Given the description of an element on the screen output the (x, y) to click on. 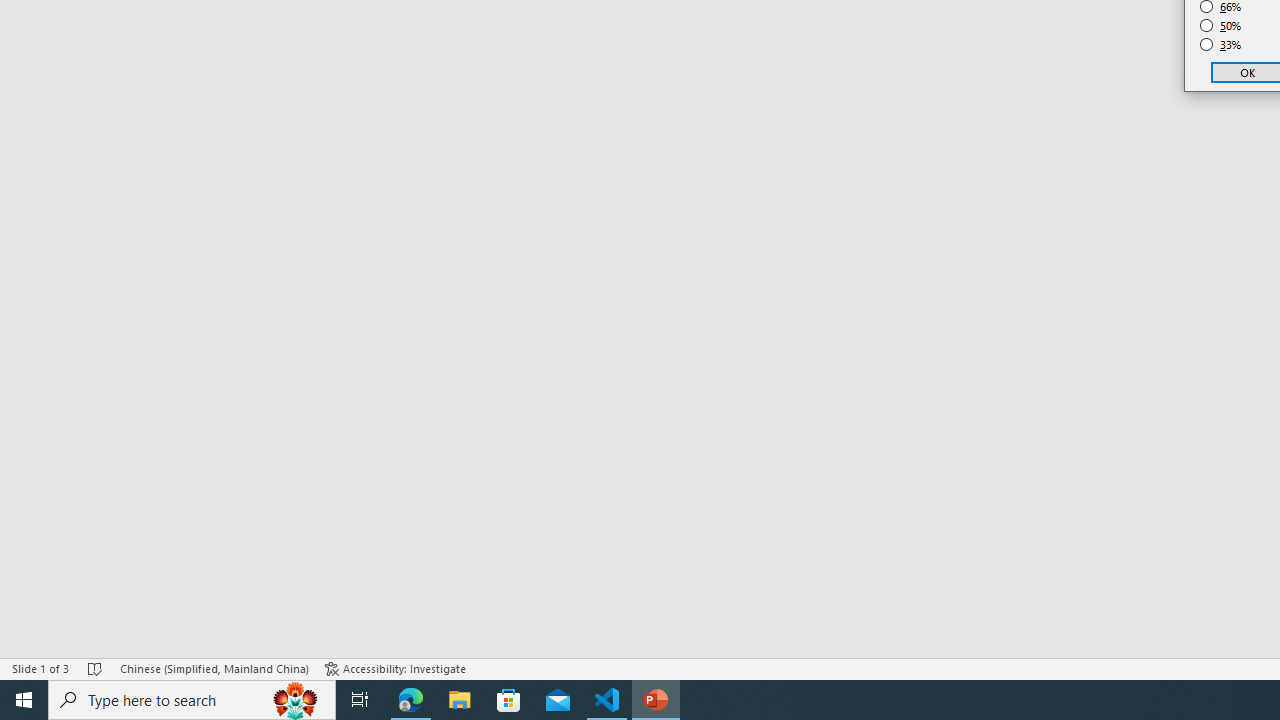
33% (1221, 44)
50% (1221, 25)
